Given the description of an element on the screen output the (x, y) to click on. 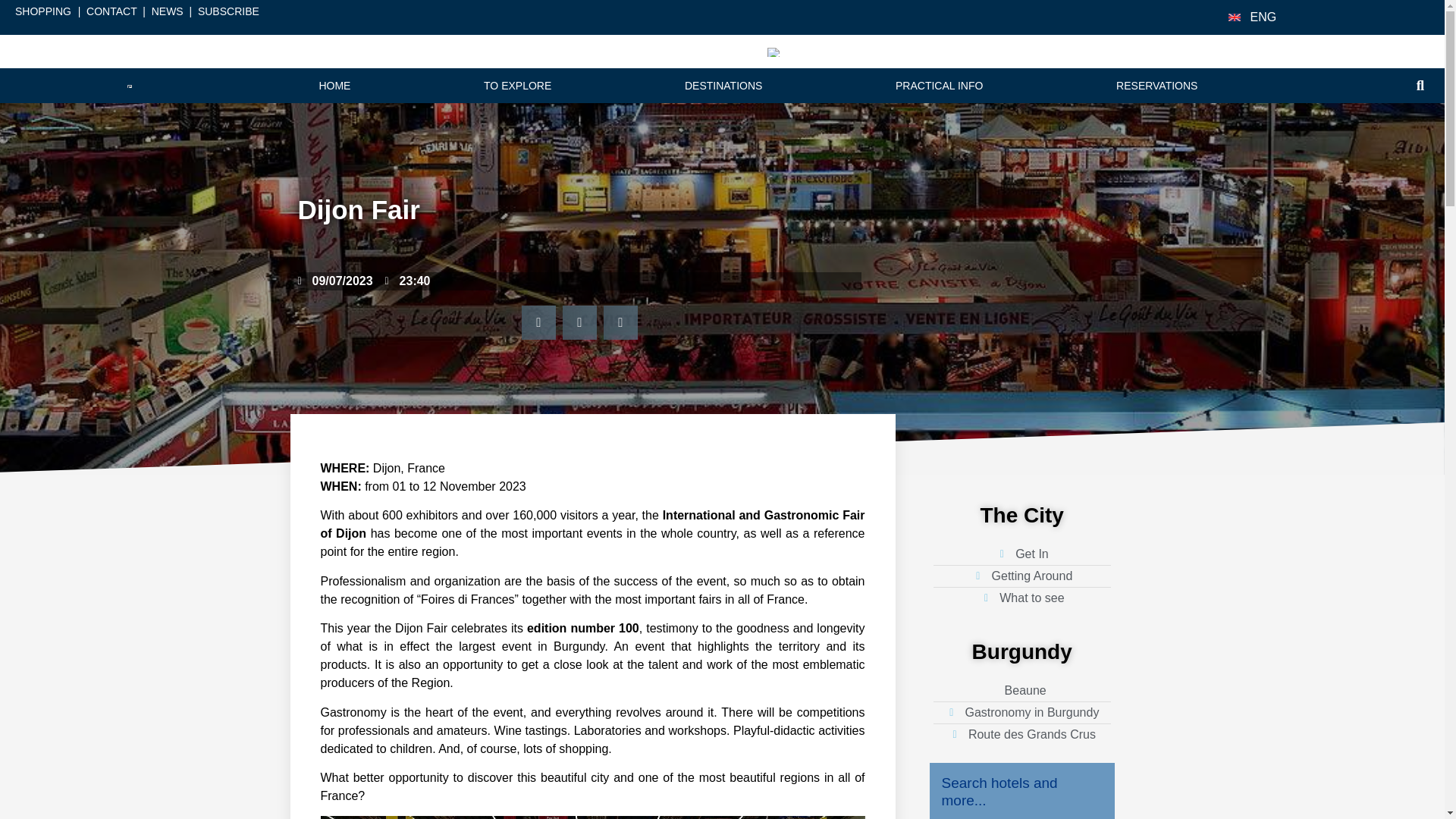
HOME (334, 85)
PRACTICAL INFO (938, 85)
NEWS (167, 10)
SUBSCRIBE (228, 10)
ENG (1263, 16)
CONTACT (110, 10)
SHOPPING (42, 10)
DESTINATIONS (722, 85)
TO EXPLORE (516, 85)
